Given the description of an element on the screen output the (x, y) to click on. 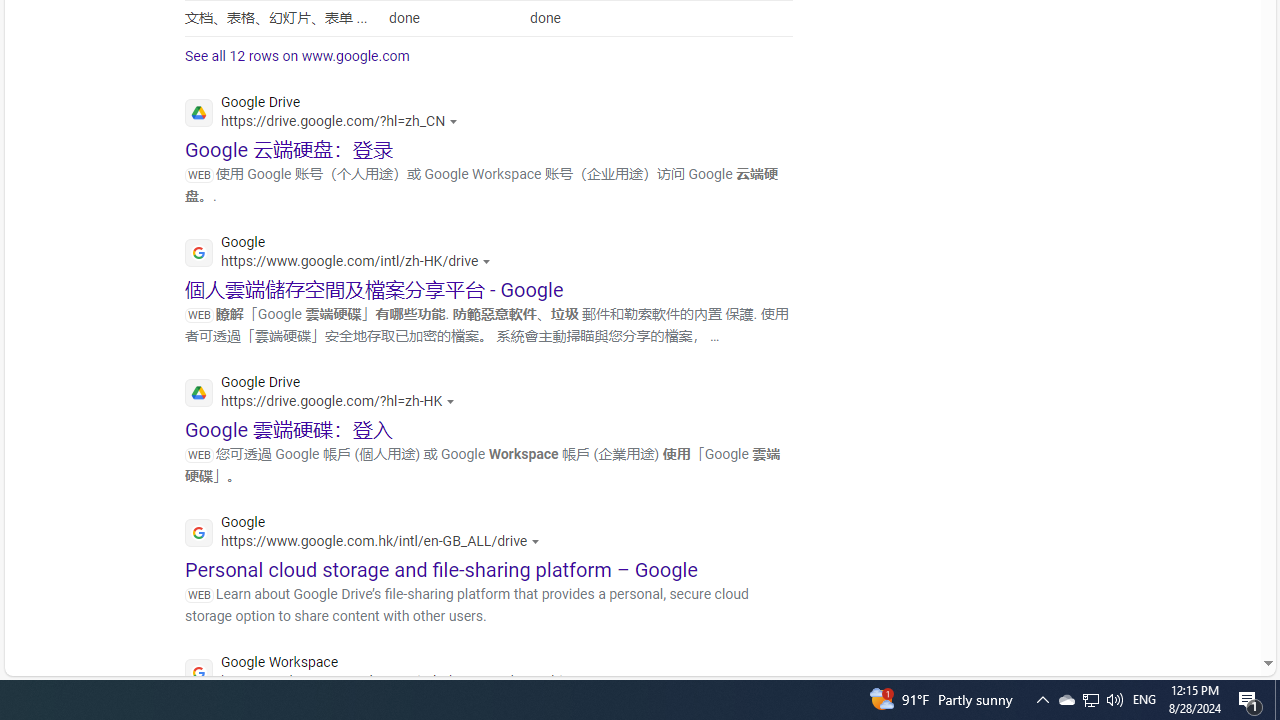
Google Drive (325, 394)
